Given the description of an element on the screen output the (x, y) to click on. 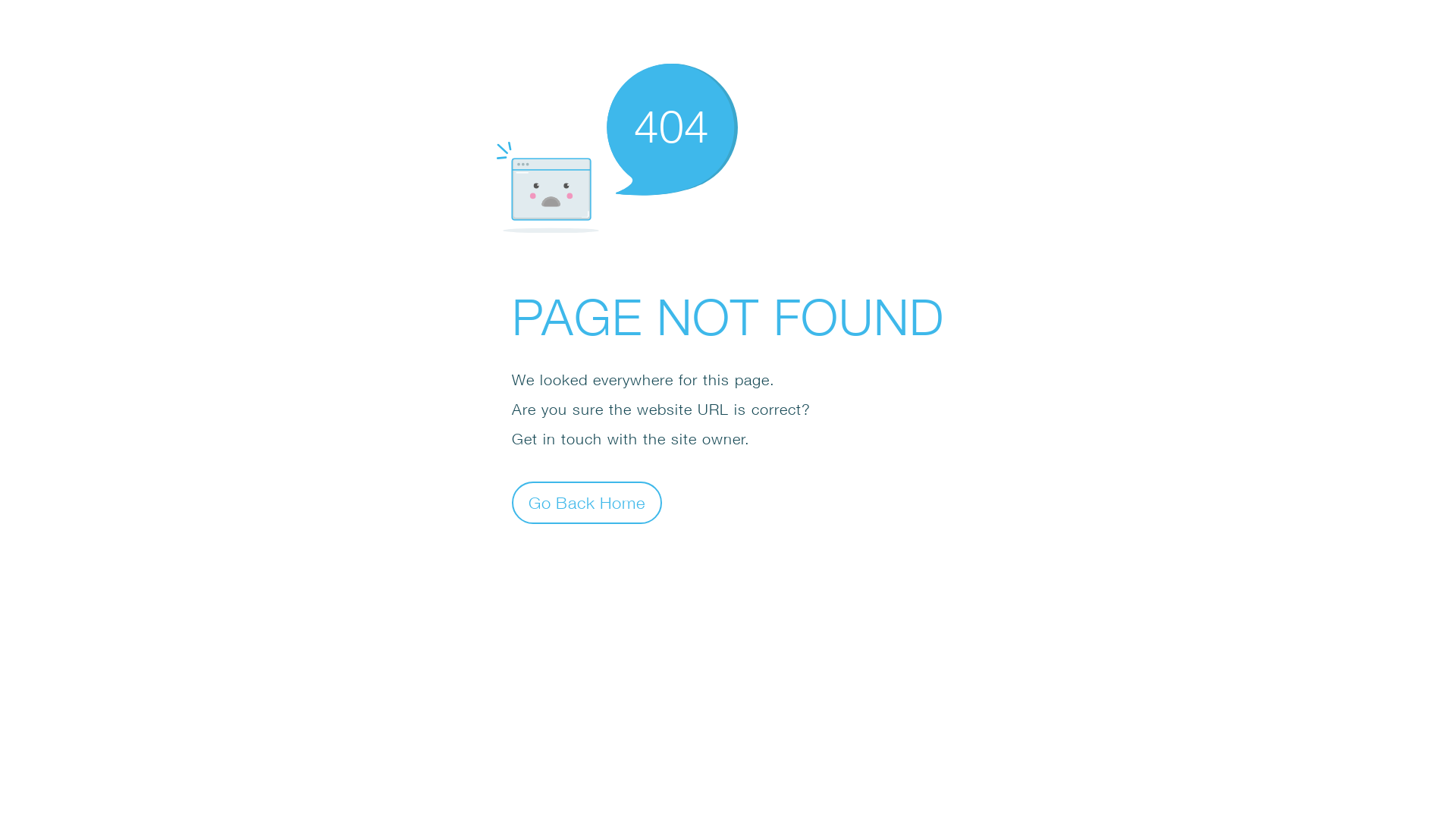
Go Back Home Element type: text (586, 502)
